Given the description of an element on the screen output the (x, y) to click on. 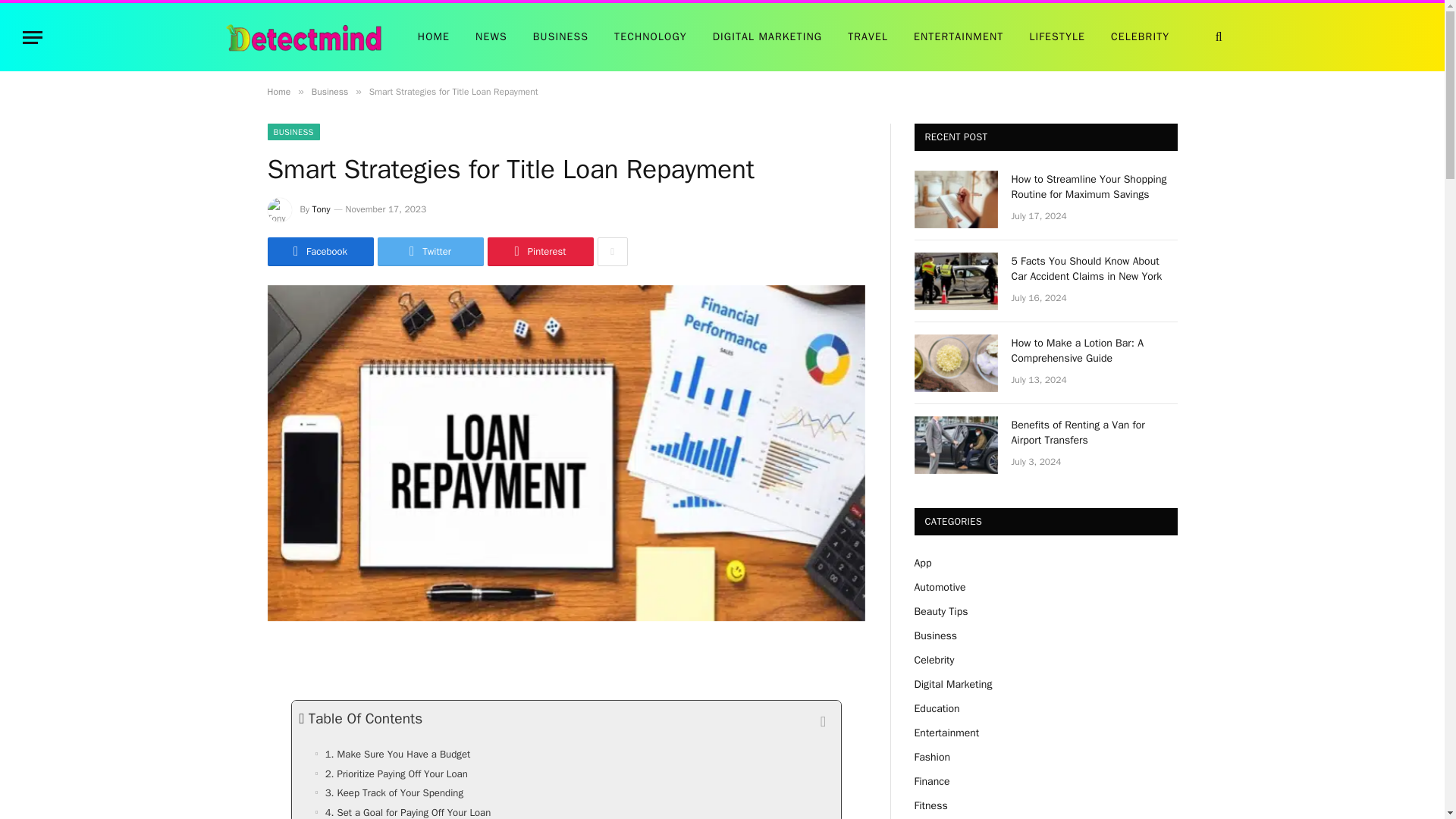
Business (329, 91)
LIFESTYLE (1056, 37)
Pinterest (539, 251)
TRAVEL (867, 37)
CELEBRITY (1139, 37)
Share on Pinterest (539, 251)
Facebook (319, 251)
BUSINESS (292, 131)
Share on Facebook (319, 251)
TECHNOLOGY (650, 37)
Tony (321, 209)
Detectmind (303, 37)
BUSINESS (560, 37)
Show More Social Sharing (611, 251)
Posts by Tony (321, 209)
